Given the description of an element on the screen output the (x, y) to click on. 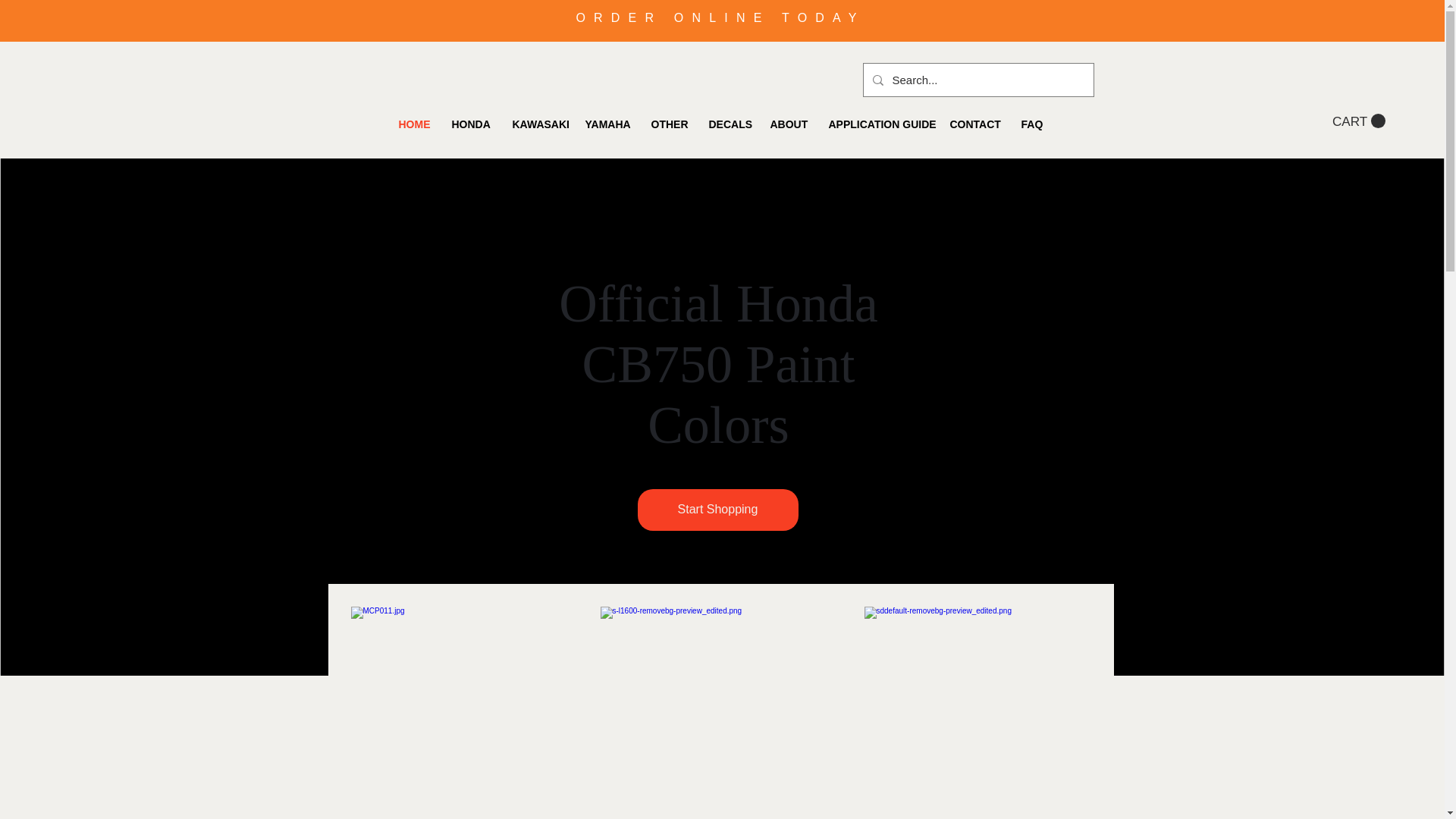
HOME (413, 124)
KAWASAKI (536, 124)
ABOUT (787, 124)
DECALS (727, 124)
CART (1359, 120)
Start Shopping (717, 509)
YAMAHA (606, 124)
CART (1359, 120)
APPLICATION GUIDE (877, 124)
HONDA (469, 124)
CONTACT (974, 124)
FAQ (1032, 124)
